Given the description of an element on the screen output the (x, y) to click on. 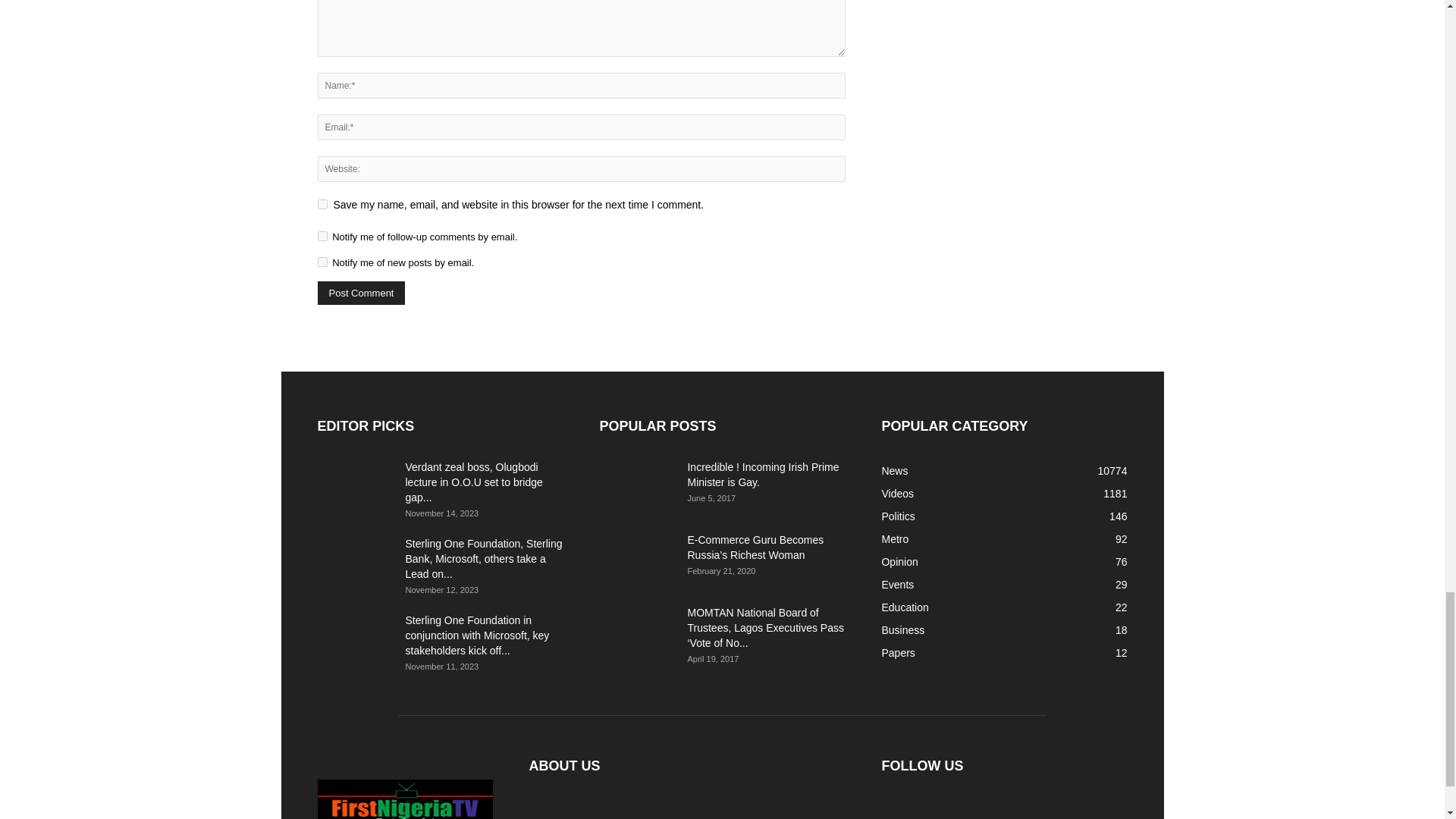
subscribe (321, 235)
yes (321, 204)
subscribe (321, 261)
Post Comment (360, 292)
